Given the description of an element on the screen output the (x, y) to click on. 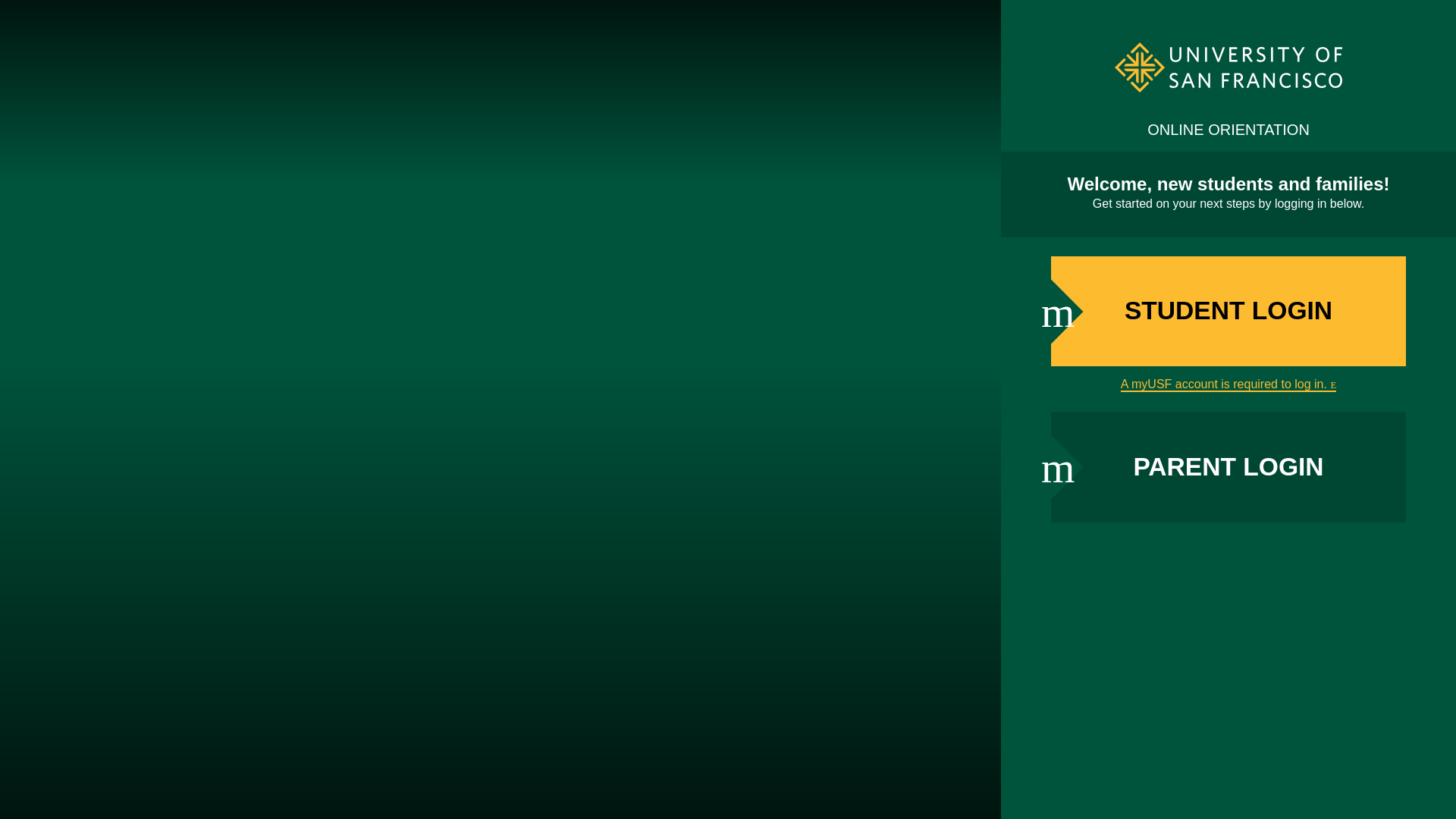
STUDENT LOGIN (1228, 311)
A myUSF account is required to log in. (1228, 384)
PARENT LOGIN (1228, 466)
